Given the description of an element on the screen output the (x, y) to click on. 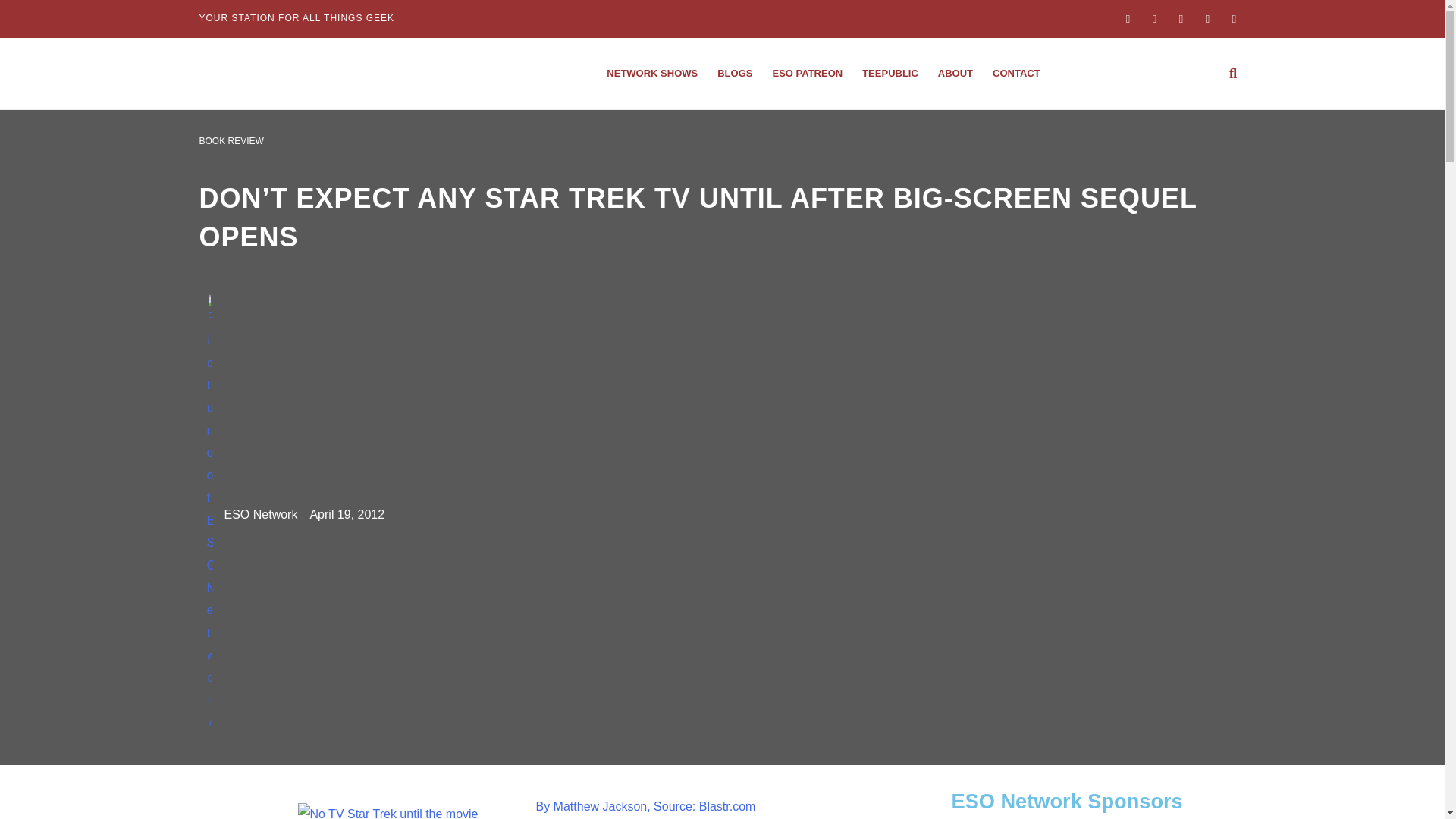
Instagram (1154, 18)
Youtube (1208, 18)
BOOK REVIEW (230, 140)
Facebook-f (1127, 18)
NETWORK SHOWS (651, 73)
TEEPUBLIC (889, 73)
2startrek460 (402, 807)
ABOUT (955, 73)
Pinterest-p (1233, 18)
ESO PATREON (806, 73)
CONTACT (1015, 73)
Patreon (806, 73)
BLOGS (734, 73)
Twitter (1180, 18)
